Given the description of an element on the screen output the (x, y) to click on. 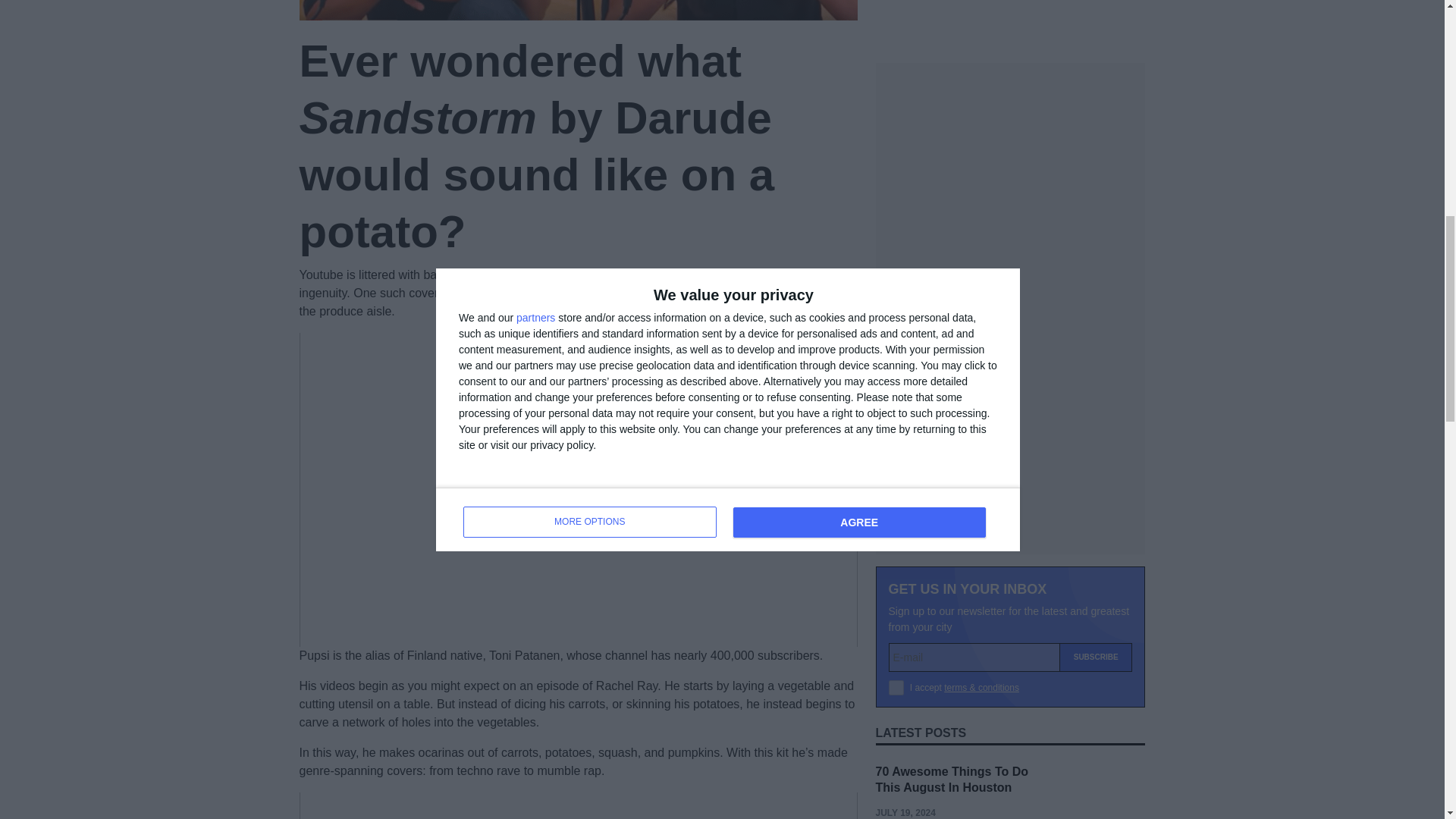
Subscribe (1095, 308)
38 Of The Best Things To Do In Houston (958, 513)
JULY 19, 2024 (904, 547)
JULY 18, 2024 (904, 647)
Pupsi (510, 292)
70 Awesome Things To Do This August In Houston (951, 430)
JULY 19, 2024 (904, 464)
Subscribe (1095, 308)
1 (896, 339)
